Given the description of an element on the screen output the (x, y) to click on. 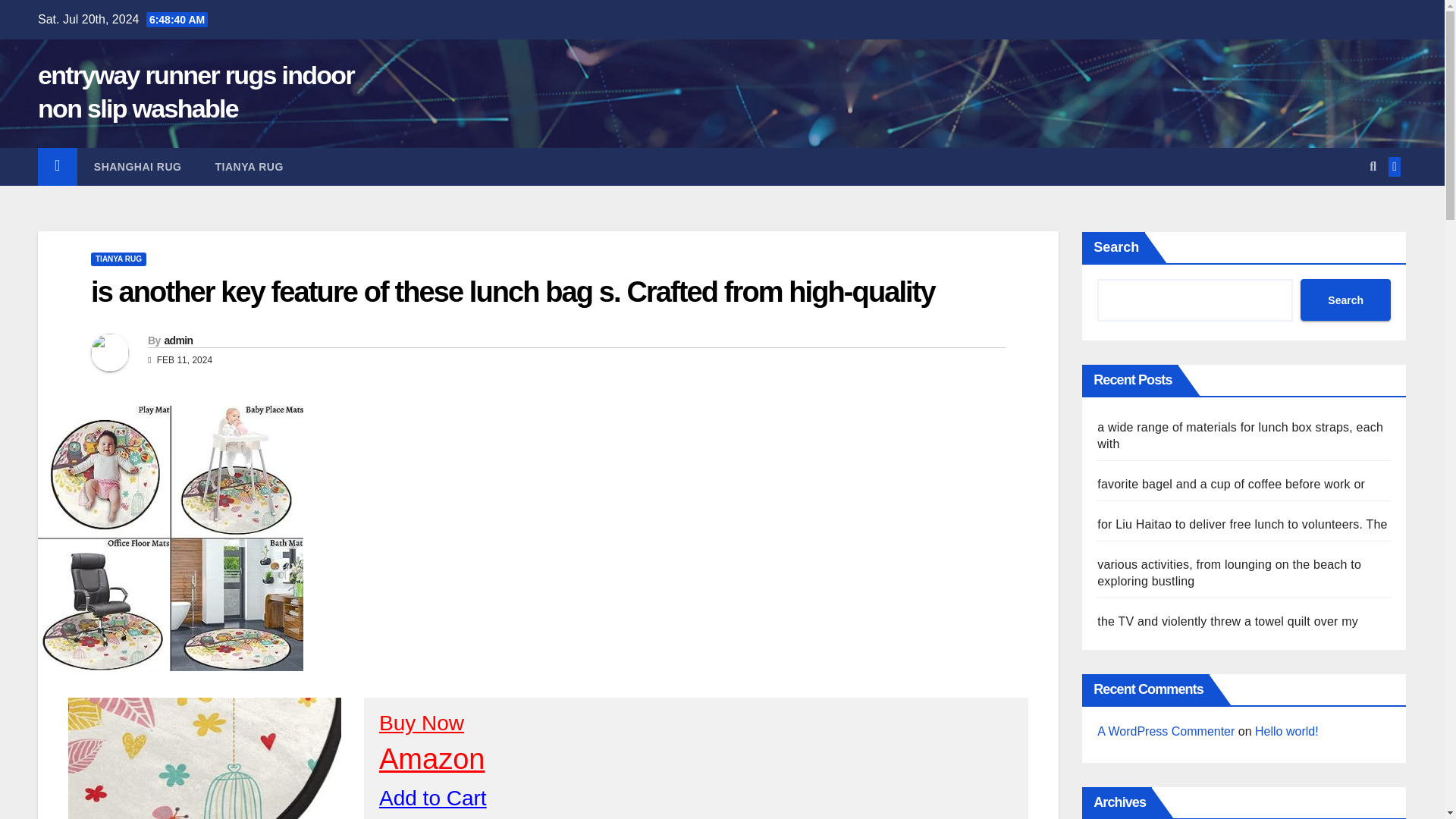
Amazon (431, 758)
Tianya rug (248, 166)
Shanghai rug (137, 166)
TIANYA RUG (248, 166)
SHANGHAI RUG (137, 166)
Add to Cart (432, 797)
TIANYA RUG (118, 259)
entryway runner rugs indoor non slip washable (195, 91)
admin (177, 340)
Buy Now (421, 722)
